Given the description of an element on the screen output the (x, y) to click on. 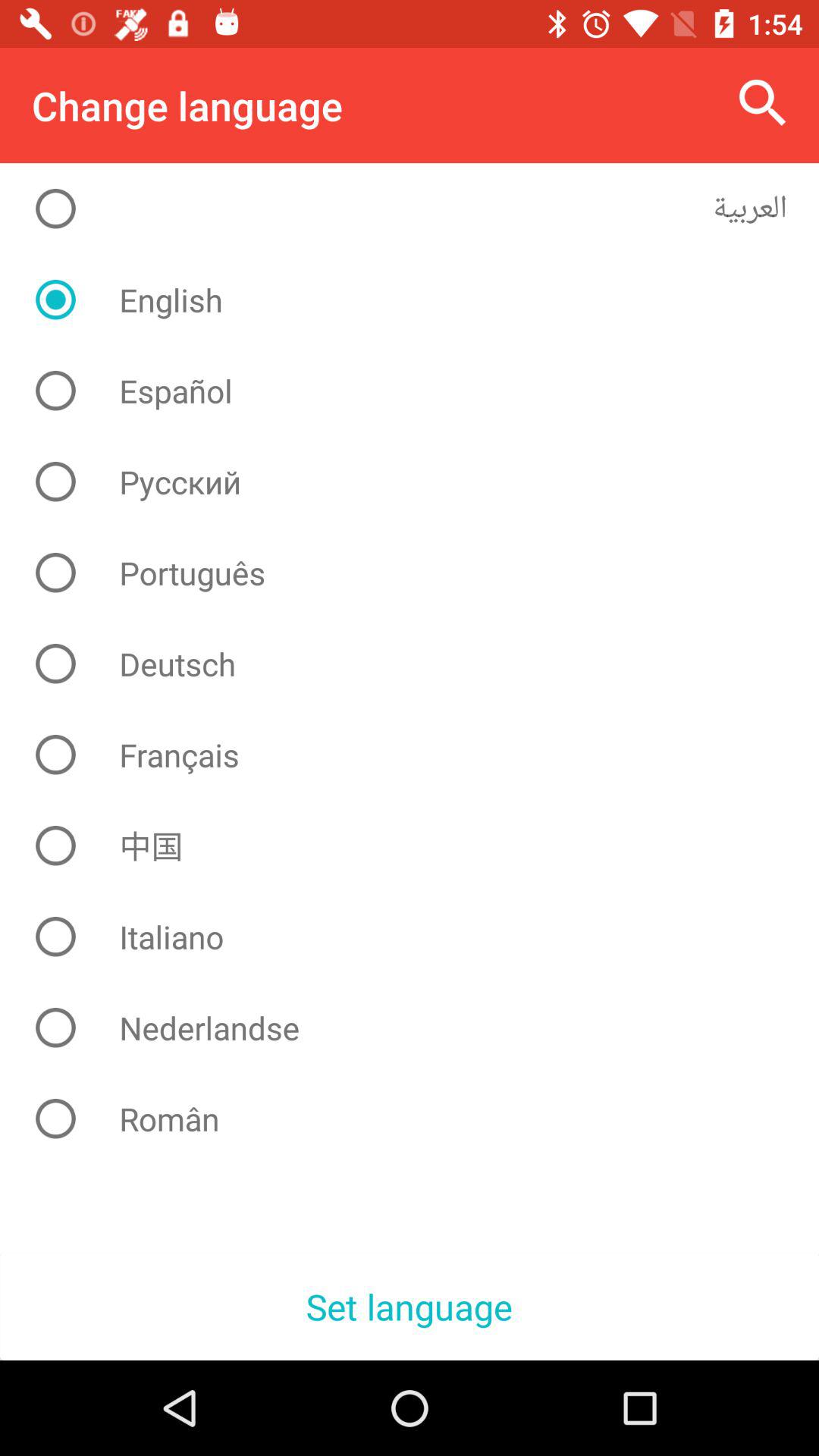
click icon below nederlandse (421, 1118)
